Given the description of an element on the screen output the (x, y) to click on. 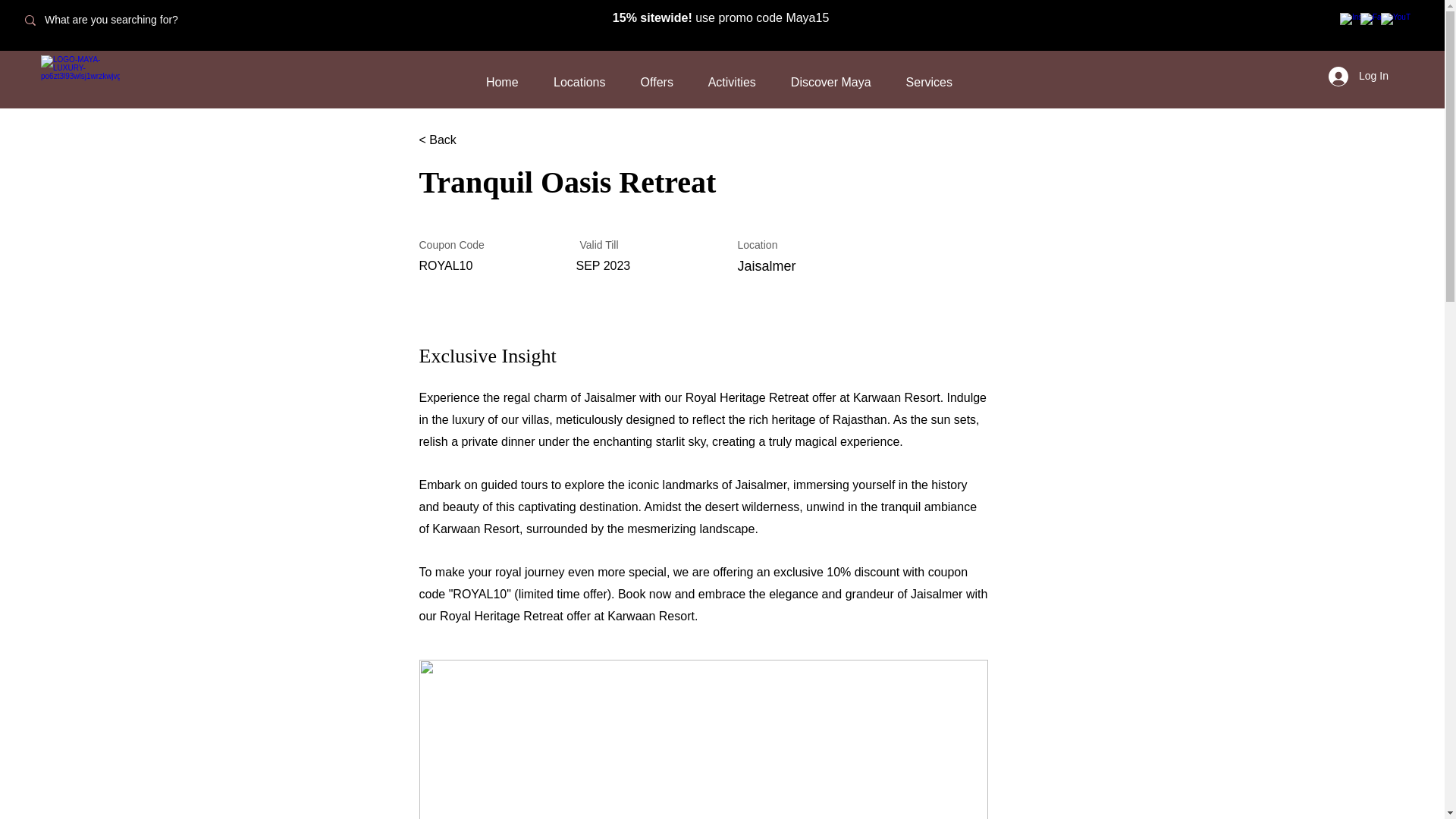
Activities (731, 82)
Offers (656, 82)
Home (501, 82)
Discover Maya (830, 82)
KJ-12.jpg (703, 739)
Log In (1357, 76)
Services (928, 82)
